Given the description of an element on the screen output the (x, y) to click on. 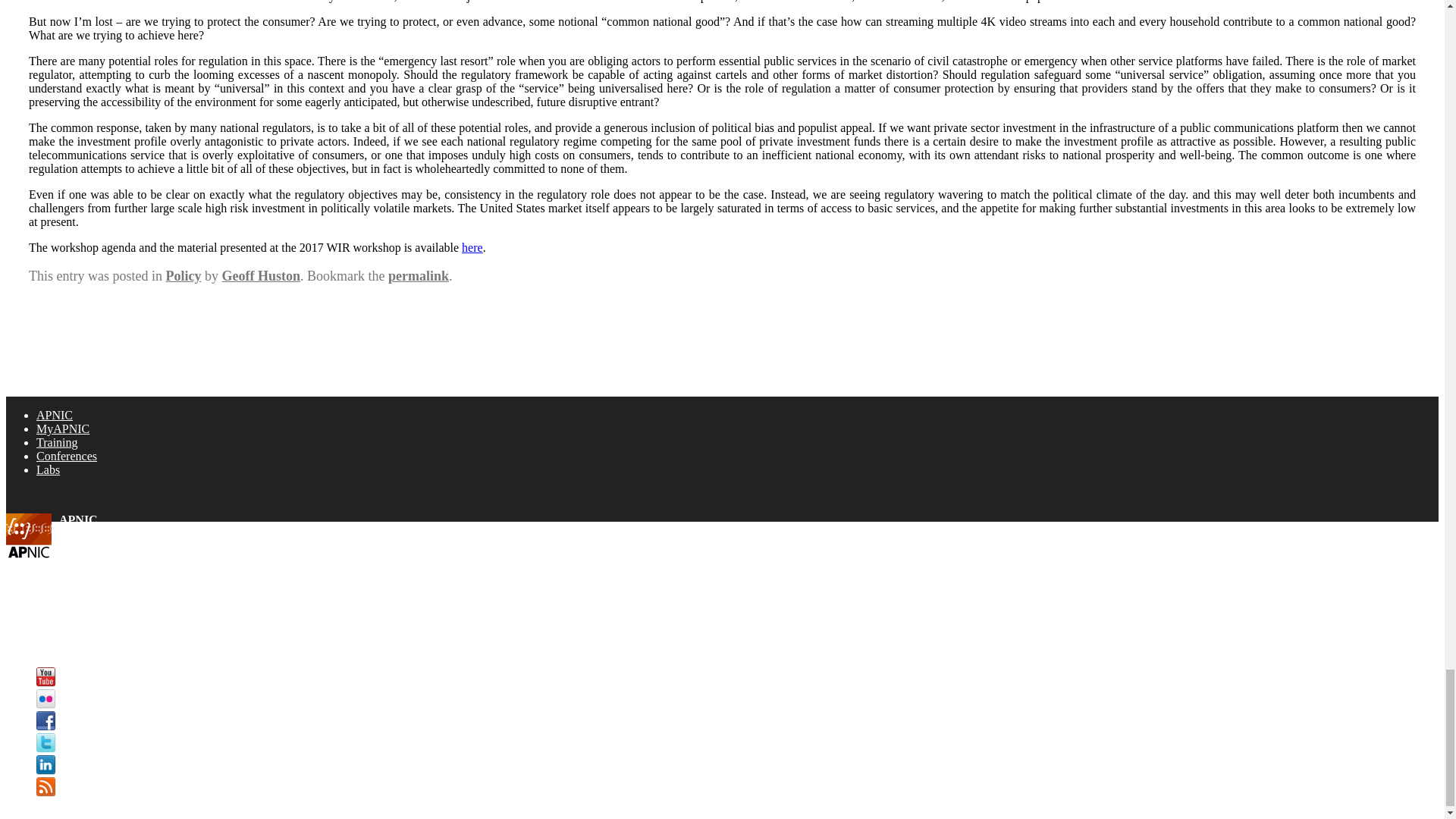
Policy (182, 275)
Training (57, 441)
Geoff Huston (260, 275)
Labs (47, 469)
permalink (418, 275)
Permalink to A Workshop on Internet Economics (418, 275)
Twitter (45, 742)
Facebook (45, 720)
YouTube (45, 676)
Flickr (45, 698)
here (472, 246)
APNIC (54, 414)
Conferences (66, 455)
RSS (45, 786)
MyAPNIC (62, 428)
